Given the description of an element on the screen output the (x, y) to click on. 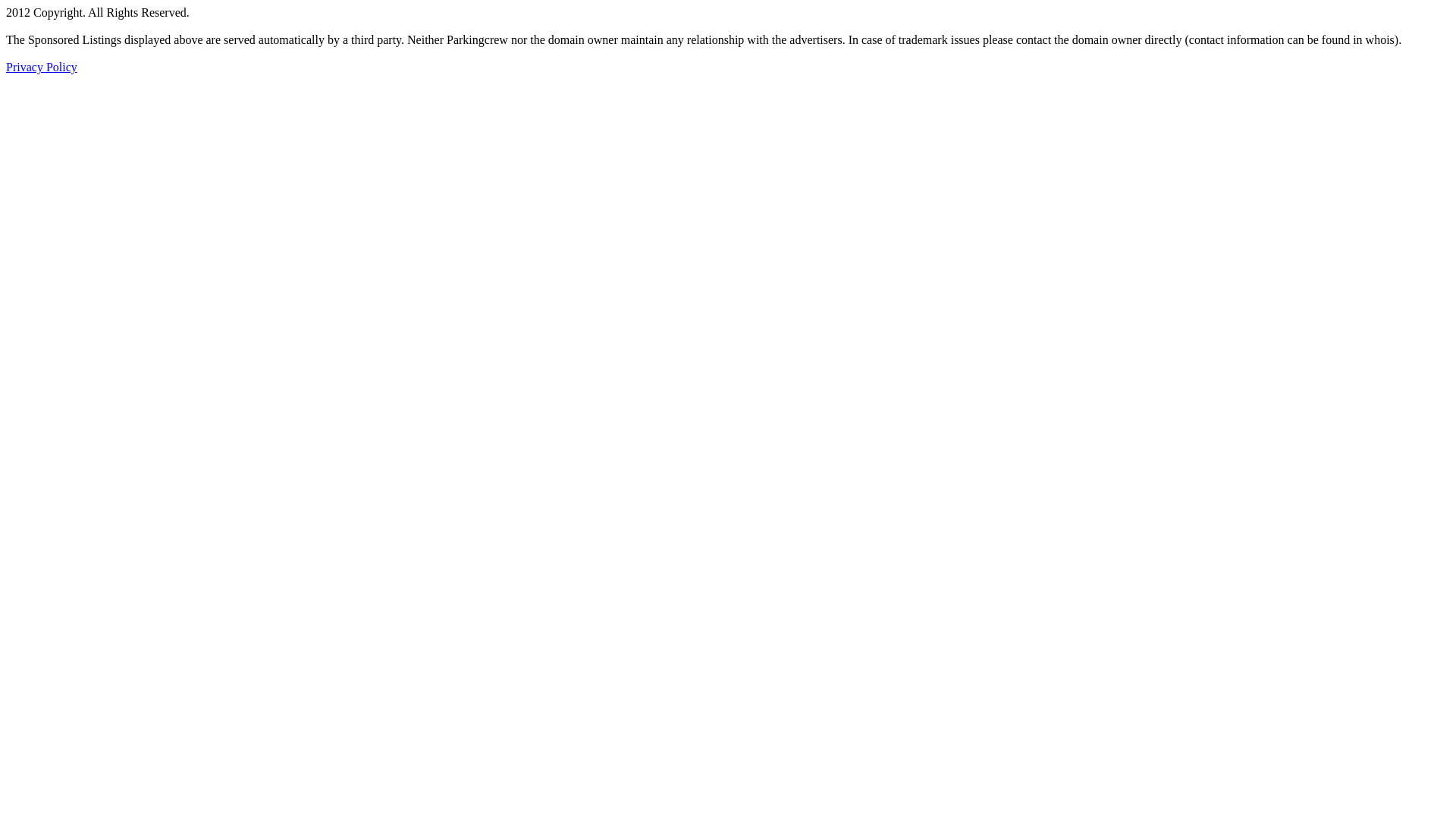
Privacy Policy Element type: text (41, 66)
